Given the description of an element on the screen output the (x, y) to click on. 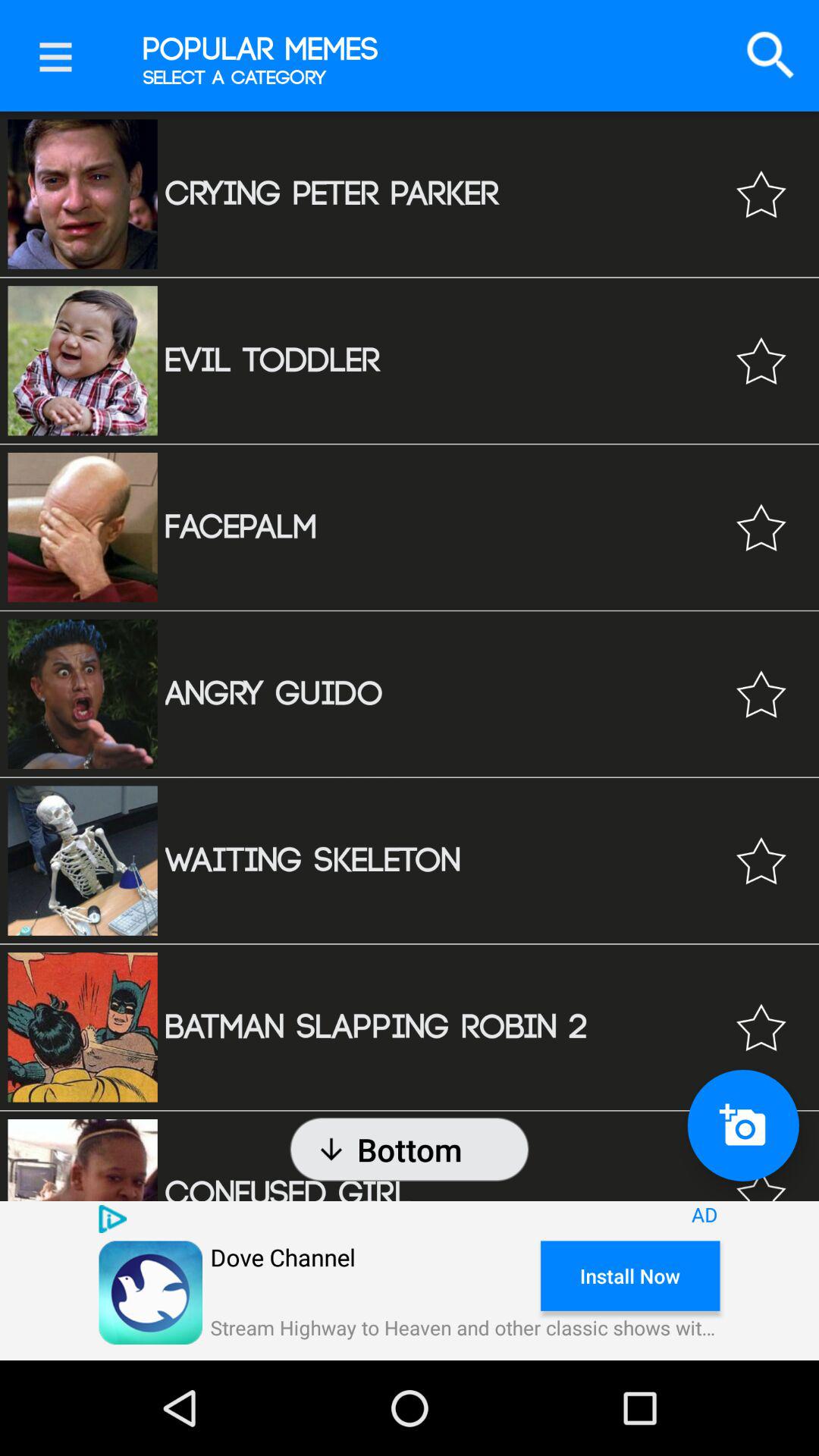
favorite the meme (761, 860)
